Given the description of an element on the screen output the (x, y) to click on. 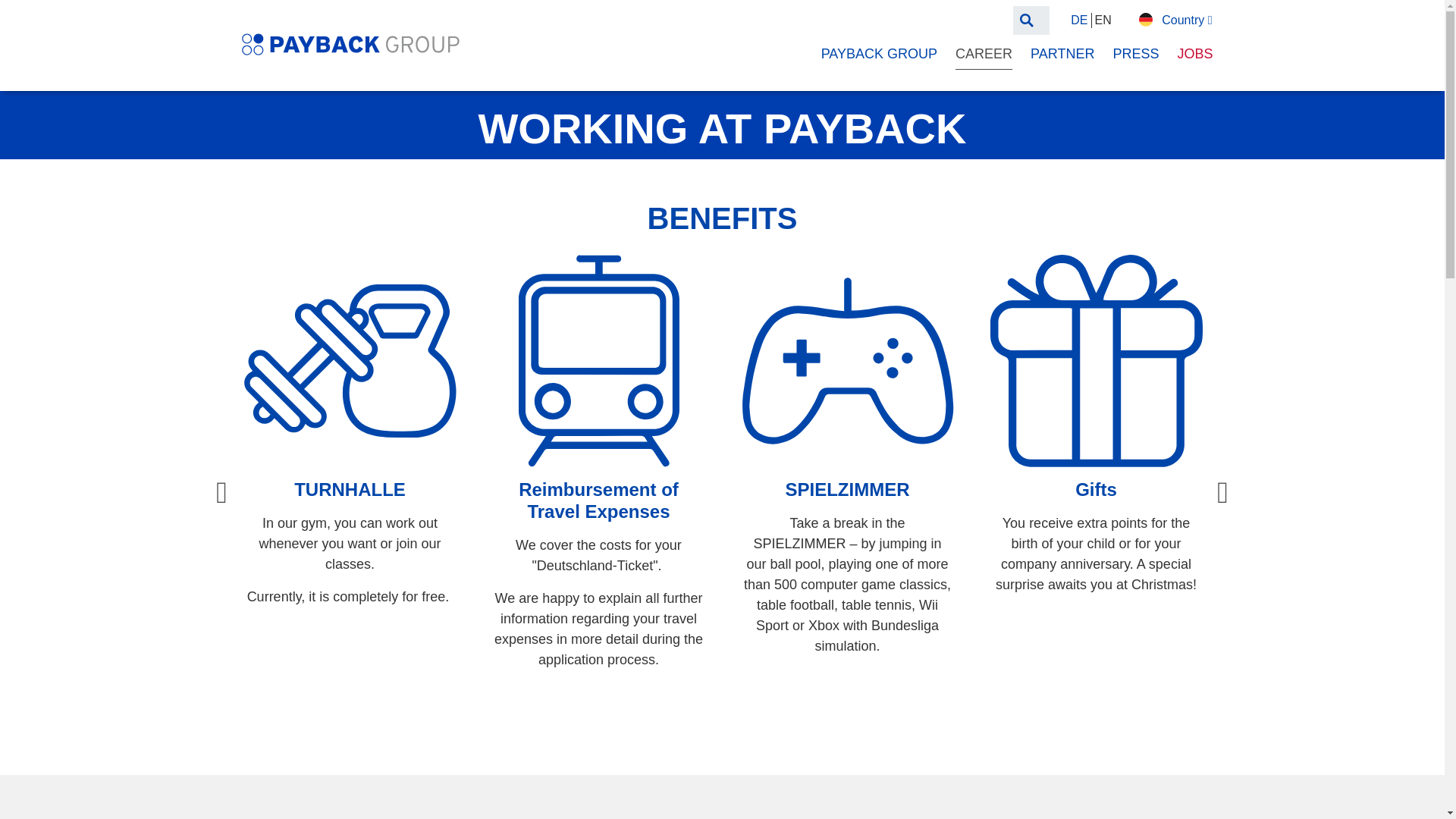
CAREER (983, 54)
PAYBACK GROUP (879, 53)
JOBS (1194, 53)
EN (1103, 19)
PARTNER (1062, 53)
PRESS (1135, 53)
DE (1078, 19)
Country (1175, 19)
